Given the description of an element on the screen output the (x, y) to click on. 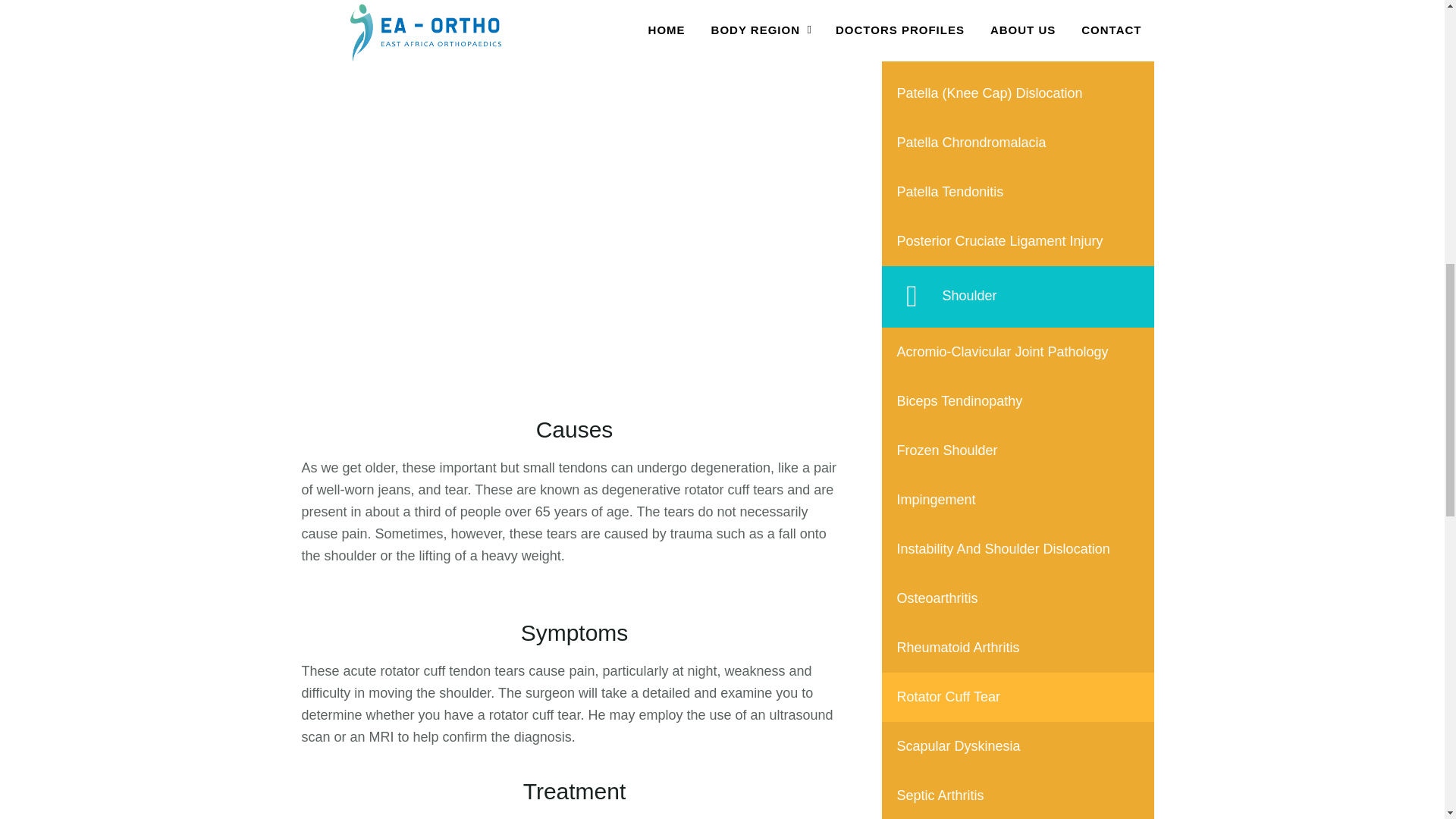
Scapular Dyskinesia (1017, 746)
Osteoarthritis Of The Knee (1017, 43)
Acromio-Clavicular Joint Pathology (1017, 351)
Shoulder (1017, 296)
Patella Tendonitis (1017, 192)
Rheumatoid Arthritis (1017, 647)
Meniscus Tears (1017, 9)
Impingement (1017, 499)
Posterior Cruciate Ligament Injury (1017, 241)
Frozen Shoulder (1017, 450)
